Given the description of an element on the screen output the (x, y) to click on. 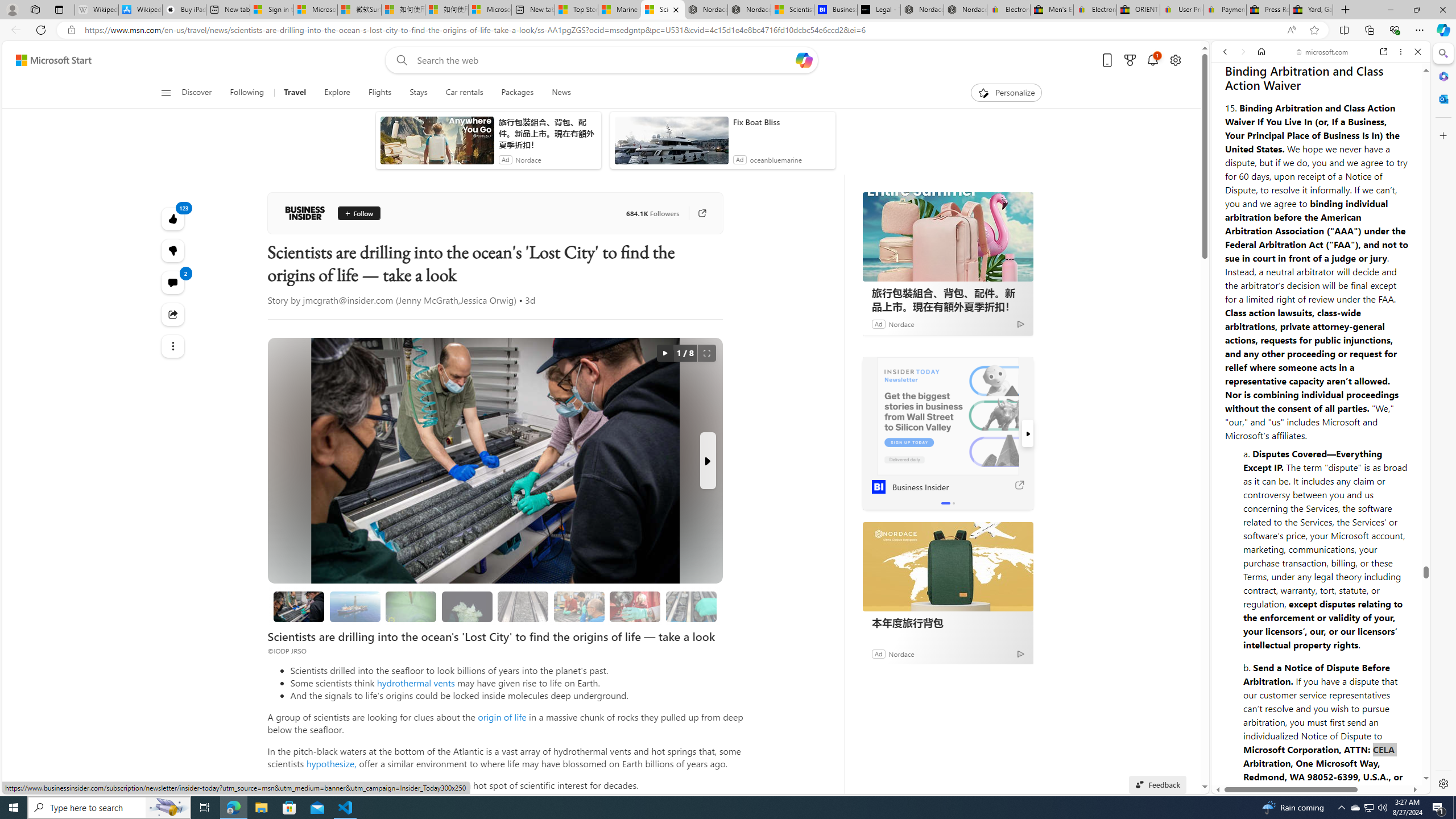
Buy iPad - Apple (184, 9)
123 Like (172, 218)
Next Slide (707, 460)
Stays (418, 92)
Looking for evidence of oxygen-free life (578, 606)
Fix Boat Bliss (781, 121)
